Given the description of an element on the screen output the (x, y) to click on. 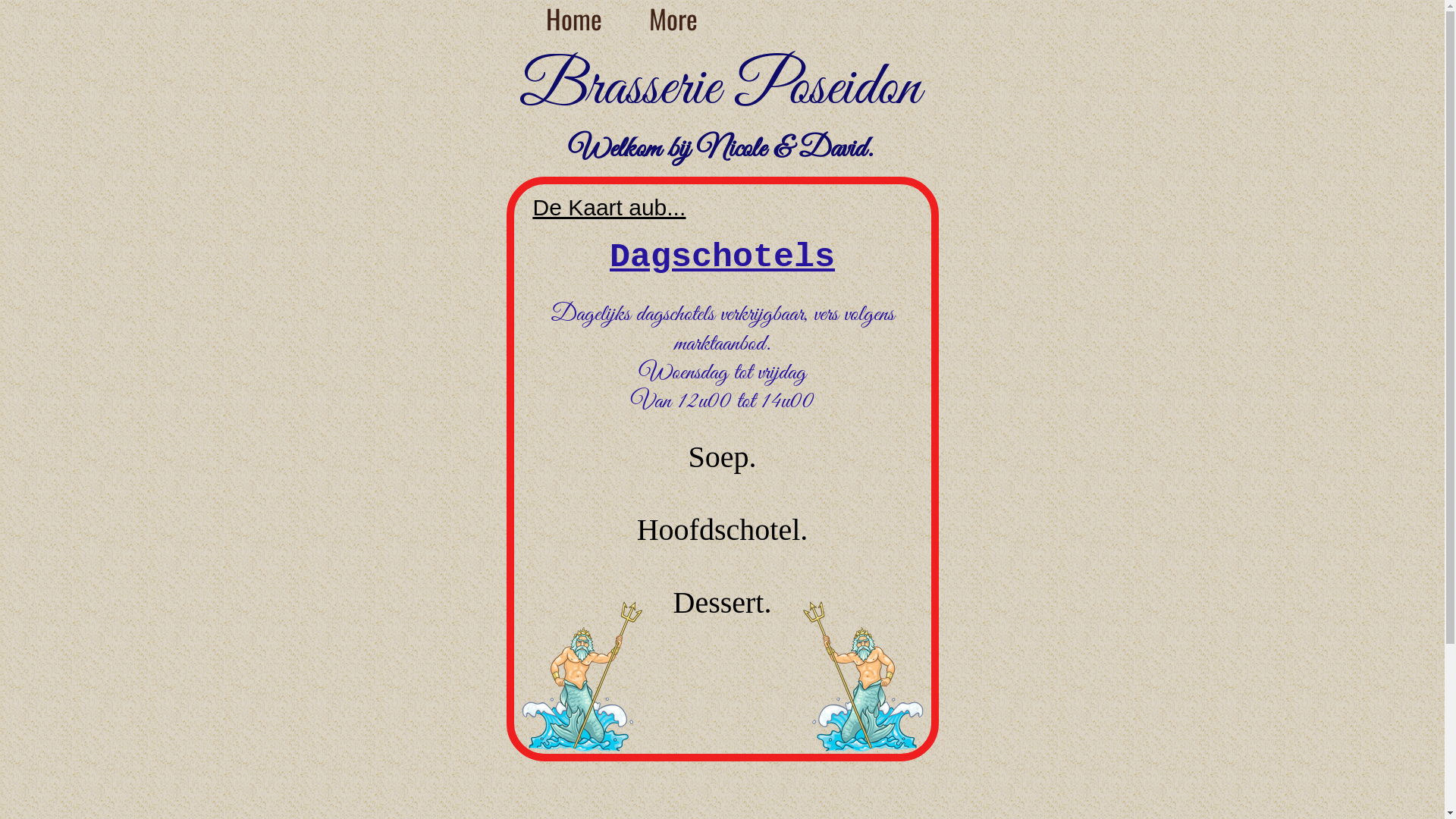
De Kaart aub... Element type: text (608, 206)
Home Element type: text (573, 17)
More Element type: text (673, 17)
